Given the description of an element on the screen output the (x, y) to click on. 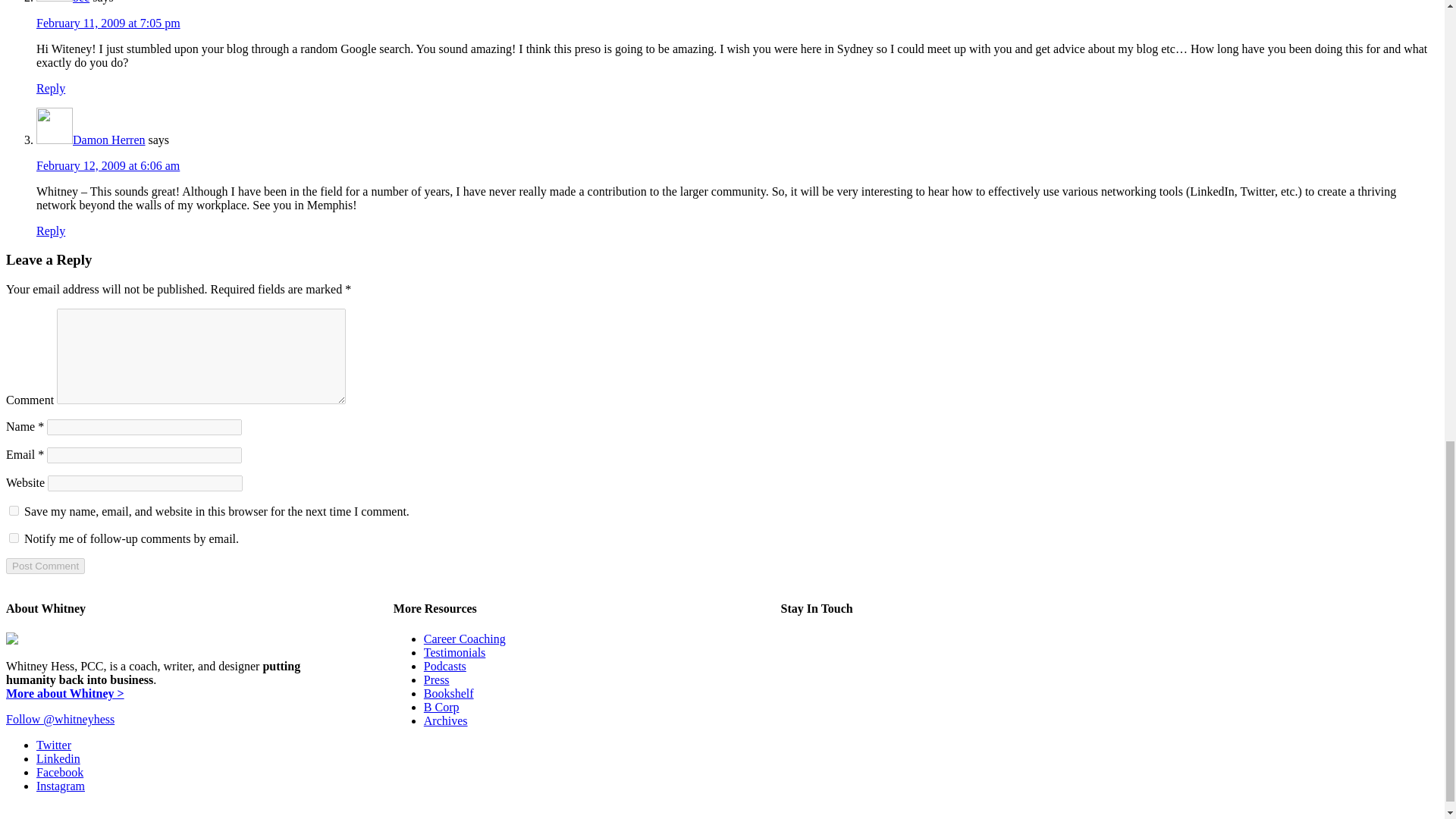
bec (80, 2)
subscribe (13, 537)
Twitter (53, 744)
Post Comment (44, 565)
Post Comment (44, 565)
February 11, 2009 at 7:05 pm (108, 22)
Linkedin (58, 758)
February 12, 2009 at 6:06 am (107, 164)
Reply (50, 230)
Damon Herren (108, 139)
